Given the description of an element on the screen output the (x, y) to click on. 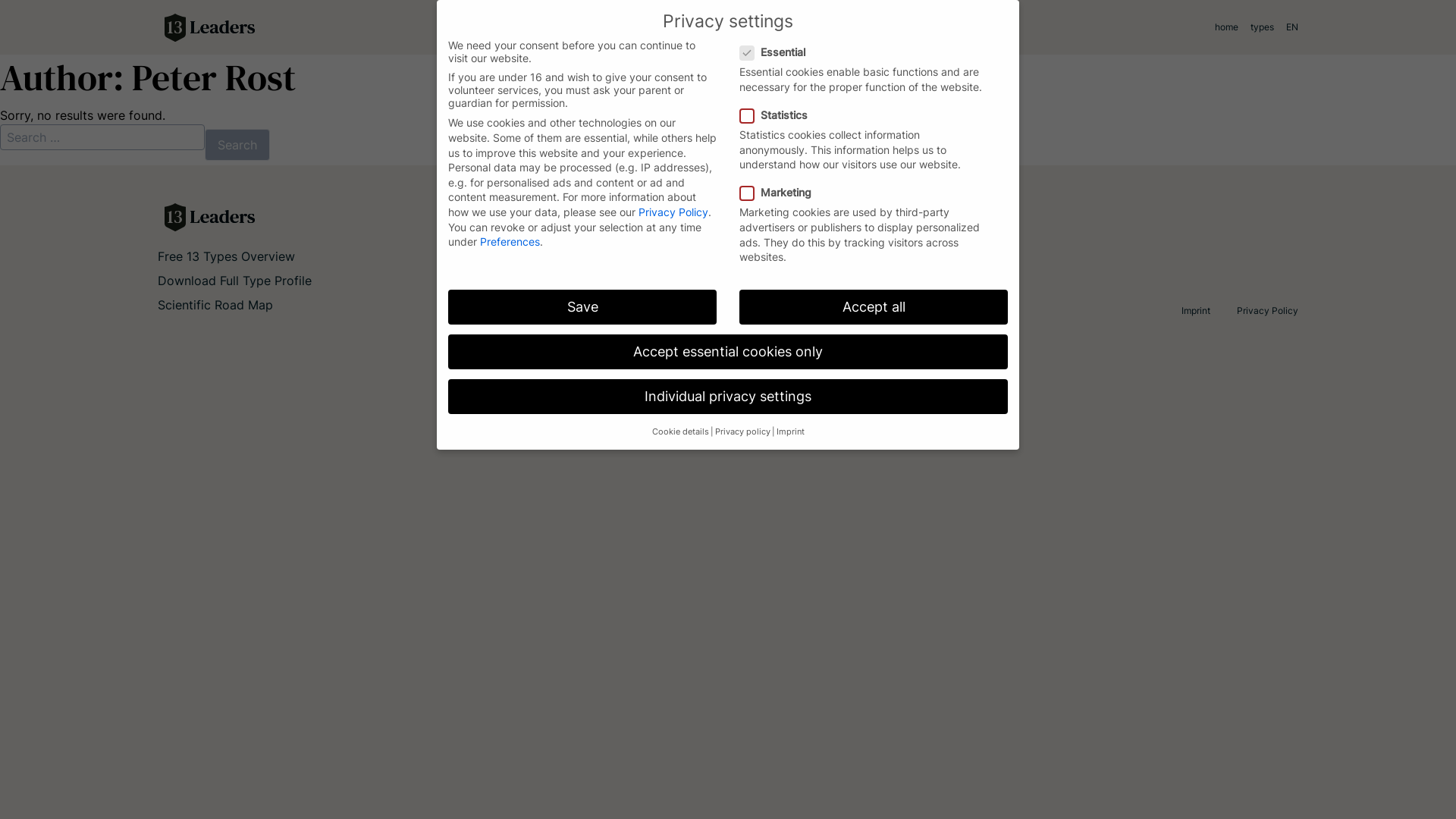
Privacy Policy Element type: text (1267, 310)
Cookie details Element type: text (680, 431)
home Element type: text (1226, 27)
13Leaders Element type: hover (439, 27)
Download Full Type Profile Element type: text (234, 280)
Preferences Element type: text (509, 241)
Individual privacy settings Element type: text (727, 396)
EN Element type: text (1289, 27)
Imprint Element type: text (1195, 310)
13Leaders Element type: hover (439, 216)
Save Element type: text (582, 306)
Imprint Element type: text (790, 431)
Free 13 Types Overview Element type: text (225, 256)
Accept essential cookies only Element type: text (727, 351)
Accept all Element type: text (873, 306)
types Element type: text (1262, 27)
Search Element type: text (236, 144)
Scientific Road Map Element type: text (215, 305)
Privacy Policy Element type: text (673, 211)
Privacy policy Element type: text (741, 431)
